Given the description of an element on the screen output the (x, y) to click on. 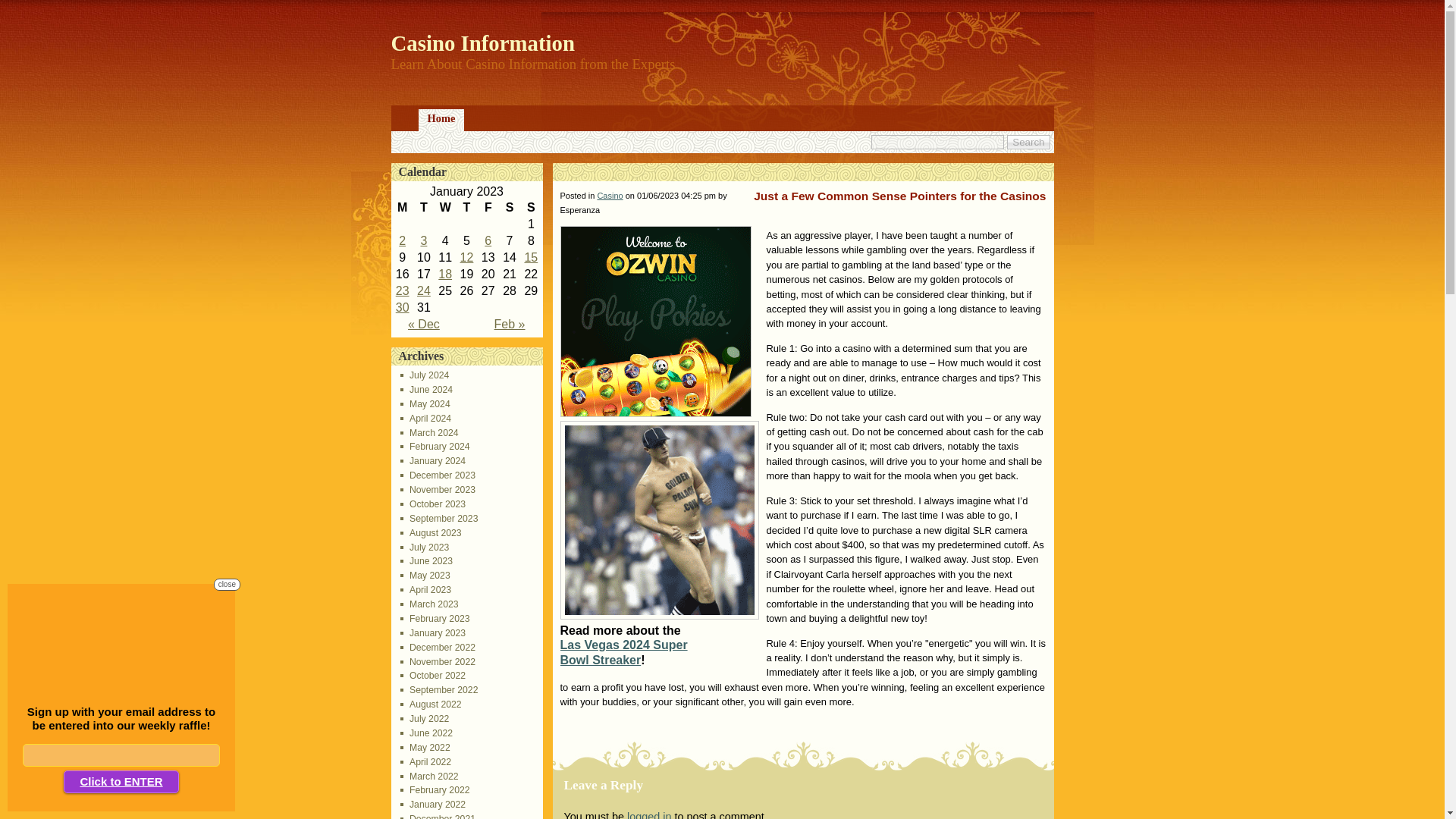
September 2023 (439, 518)
Tuesday (423, 207)
Thursday (466, 207)
April 2023 (425, 589)
July 2023 (424, 547)
Casino Information (483, 43)
February 2023 (435, 618)
September 2022 (439, 689)
October 2023 (432, 503)
May 2023 (424, 575)
November 2022 (438, 661)
March 2023 (429, 603)
Search (1028, 142)
June 2023 (426, 561)
Monday (402, 207)
